Given the description of an element on the screen output the (x, y) to click on. 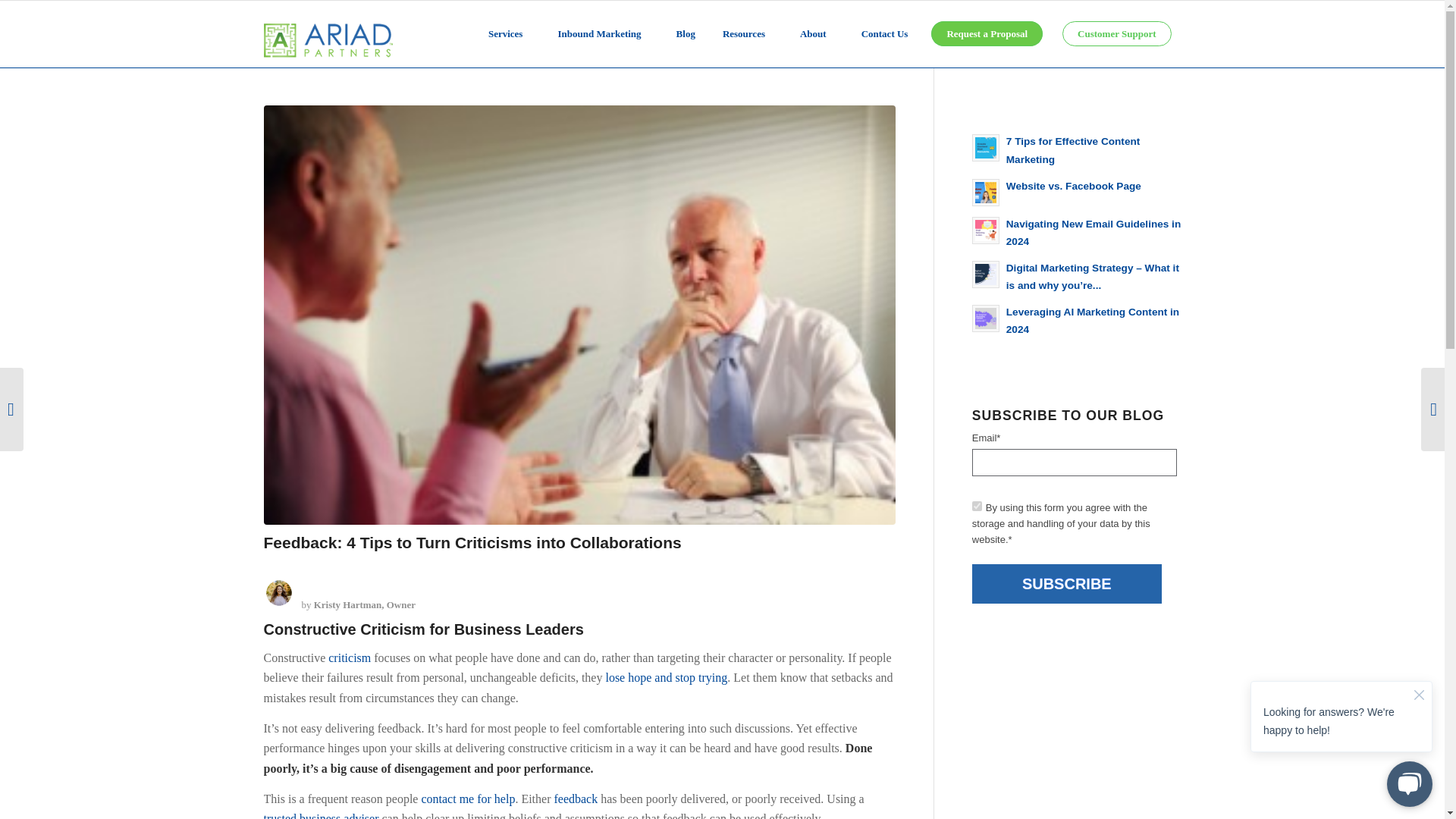
Request a Proposal (986, 33)
Subscribe (1066, 583)
Services (508, 33)
Resources (747, 33)
Contact Us (884, 33)
contact me for help (467, 798)
Customer Support (1116, 33)
lose hope and stop trying (665, 676)
criticism (350, 657)
About (816, 33)
true (976, 506)
feedback (574, 798)
Inbound Marketing (602, 33)
Welcome To Ariad Partners (320, 815)
